Given the description of an element on the screen output the (x, y) to click on. 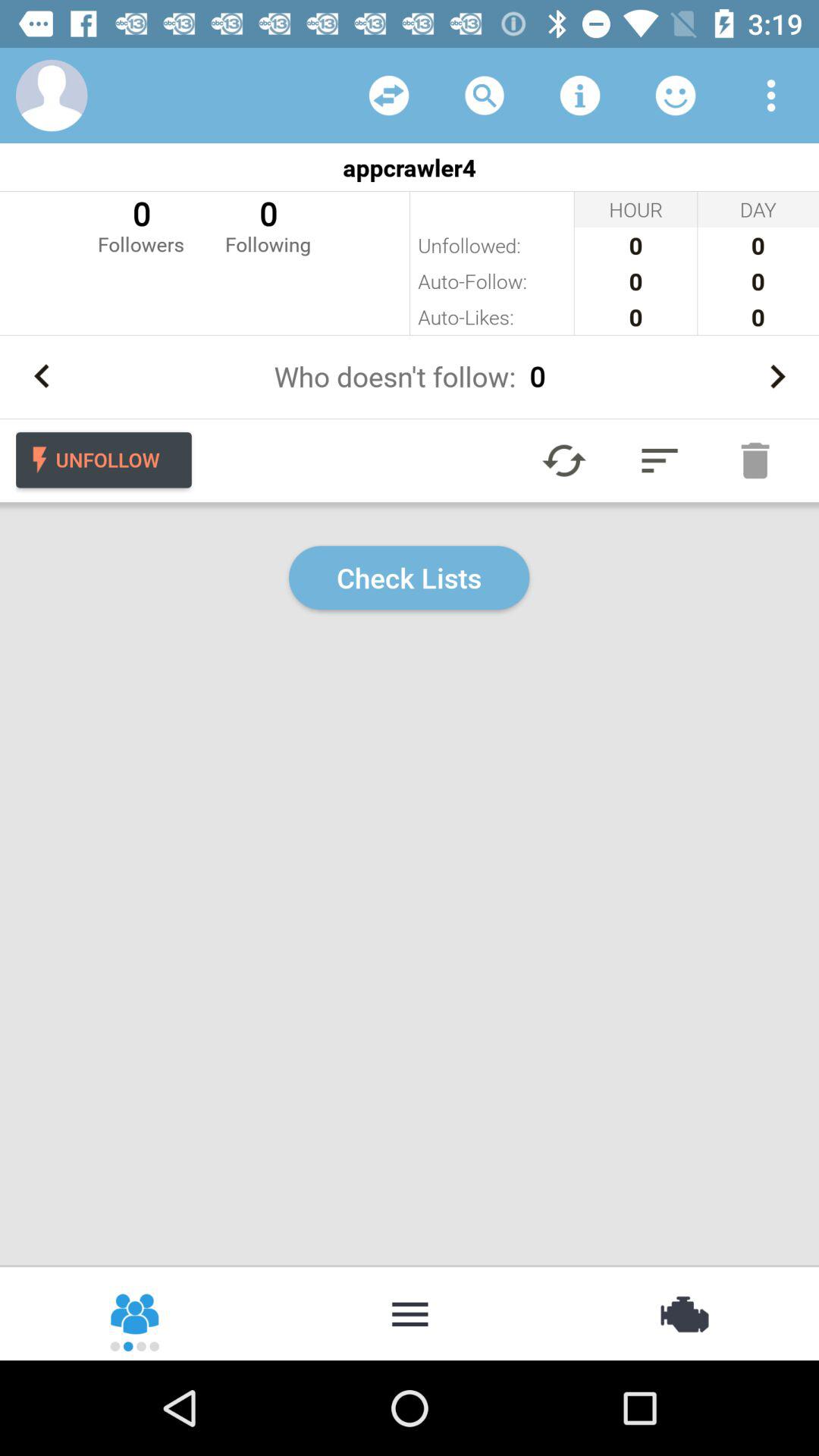
press the item above appcrawler4 (579, 95)
